Given the description of an element on the screen output the (x, y) to click on. 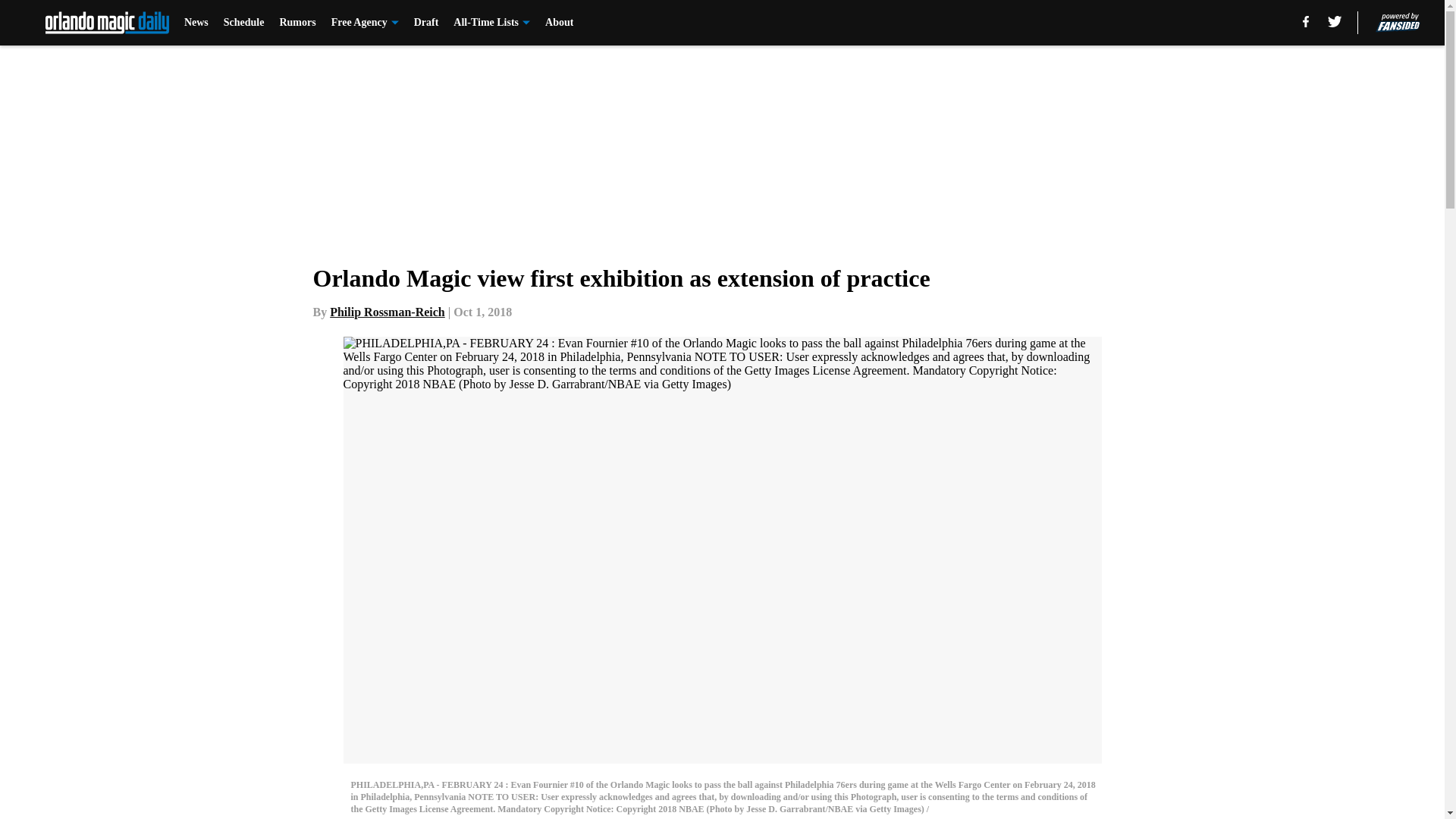
About (558, 22)
Free Agency (364, 22)
News (196, 22)
Schedule (244, 22)
Philip Rossman-Reich (387, 311)
Rumors (297, 22)
Draft (426, 22)
All-Time Lists (490, 22)
